Given the description of an element on the screen output the (x, y) to click on. 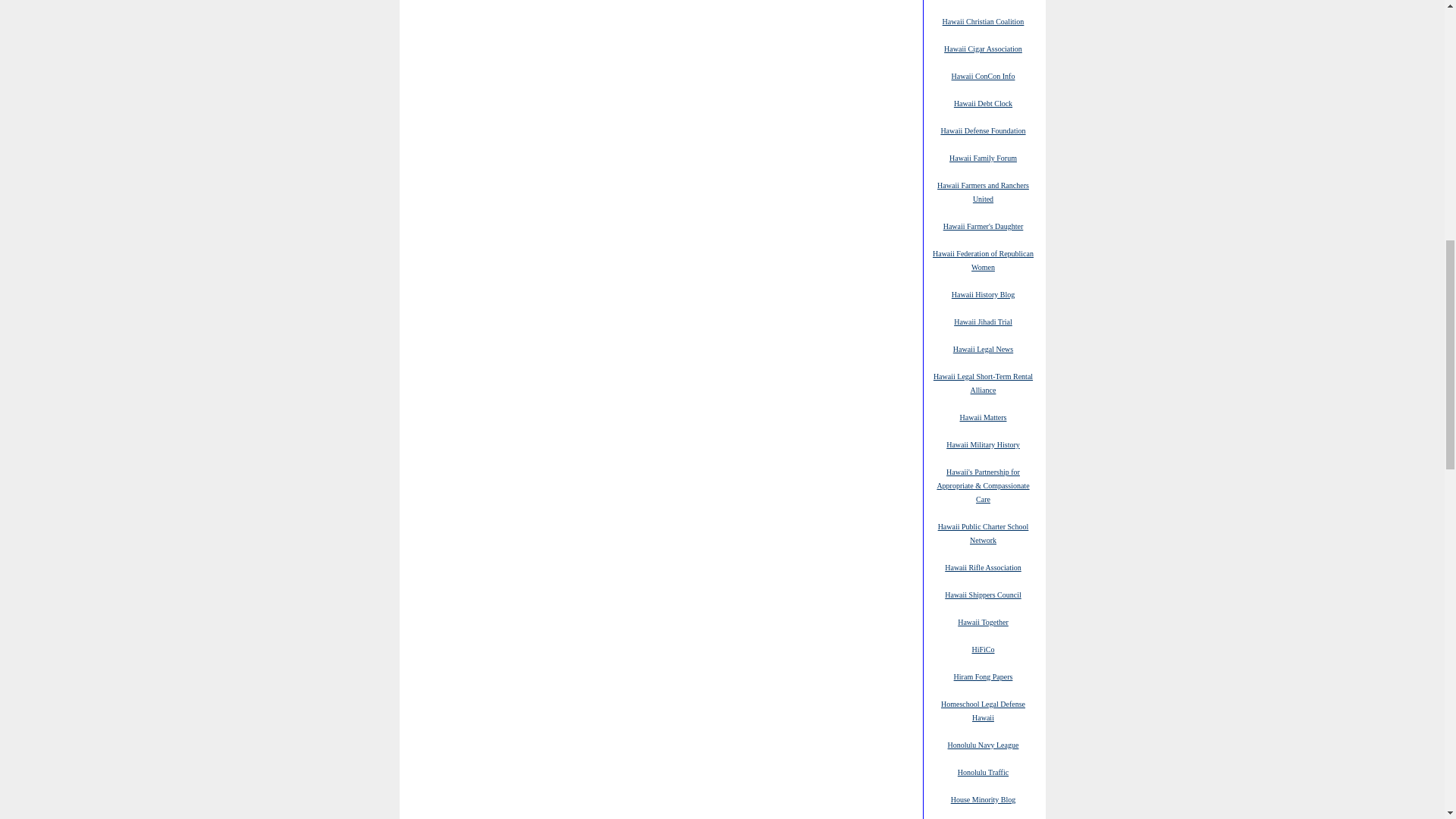
Hawaii Family Forum (982, 157)
Hawaii ConCon Info (983, 75)
Hawaii Debt Clock (982, 102)
Hawaii Christian Coalition (983, 20)
Hawaii Defense Foundation (982, 130)
Hawaii Cigar Association (982, 48)
